Given the description of an element on the screen output the (x, y) to click on. 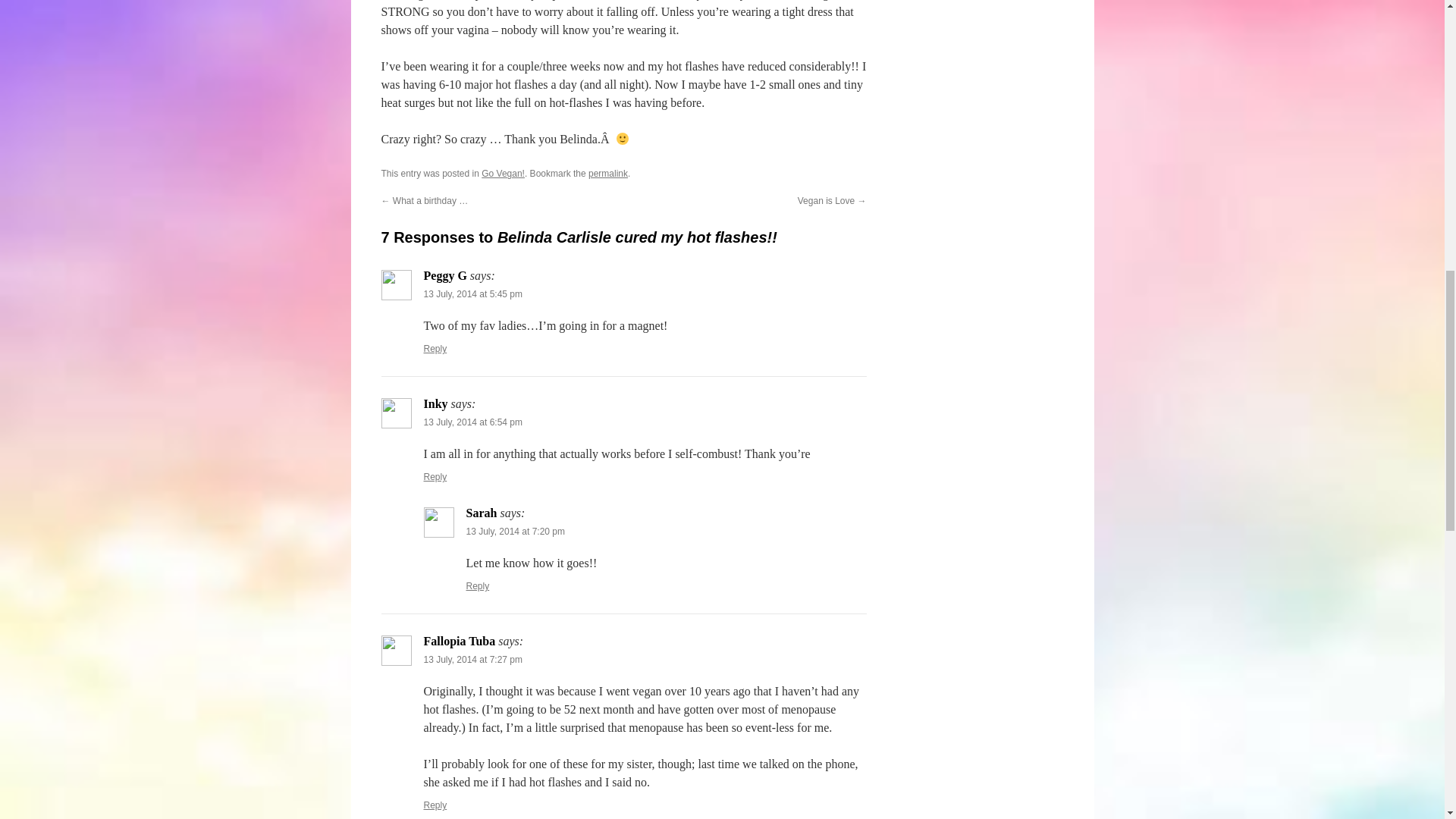
13 July, 2014 at 7:27 pm (472, 659)
Reply (434, 476)
13 July, 2014 at 5:45 pm (472, 294)
13 July, 2014 at 6:54 pm (472, 421)
permalink (607, 173)
Reply (477, 585)
Reply (434, 805)
13 July, 2014 at 7:20 pm (514, 531)
Go Vegan! (502, 173)
Permalink to Belinda Carlisle cured my hot flashes!! (607, 173)
